Given the description of an element on the screen output the (x, y) to click on. 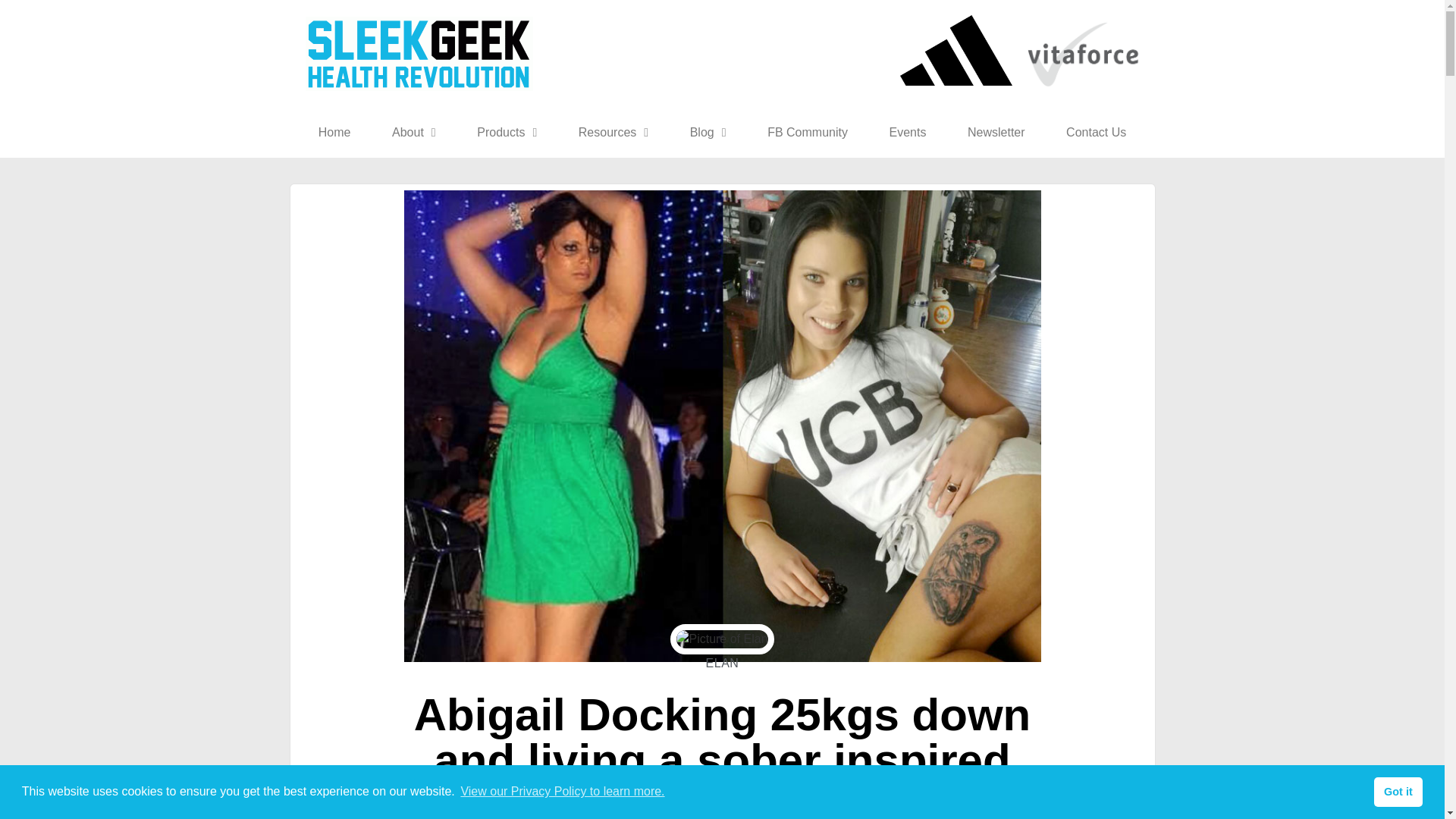
Blog (706, 132)
About (414, 132)
Products (507, 132)
Sleekgeek-Health-Revolution-Logo.gif (418, 53)
Home (334, 132)
Resources (613, 132)
